Given the description of an element on the screen output the (x, y) to click on. 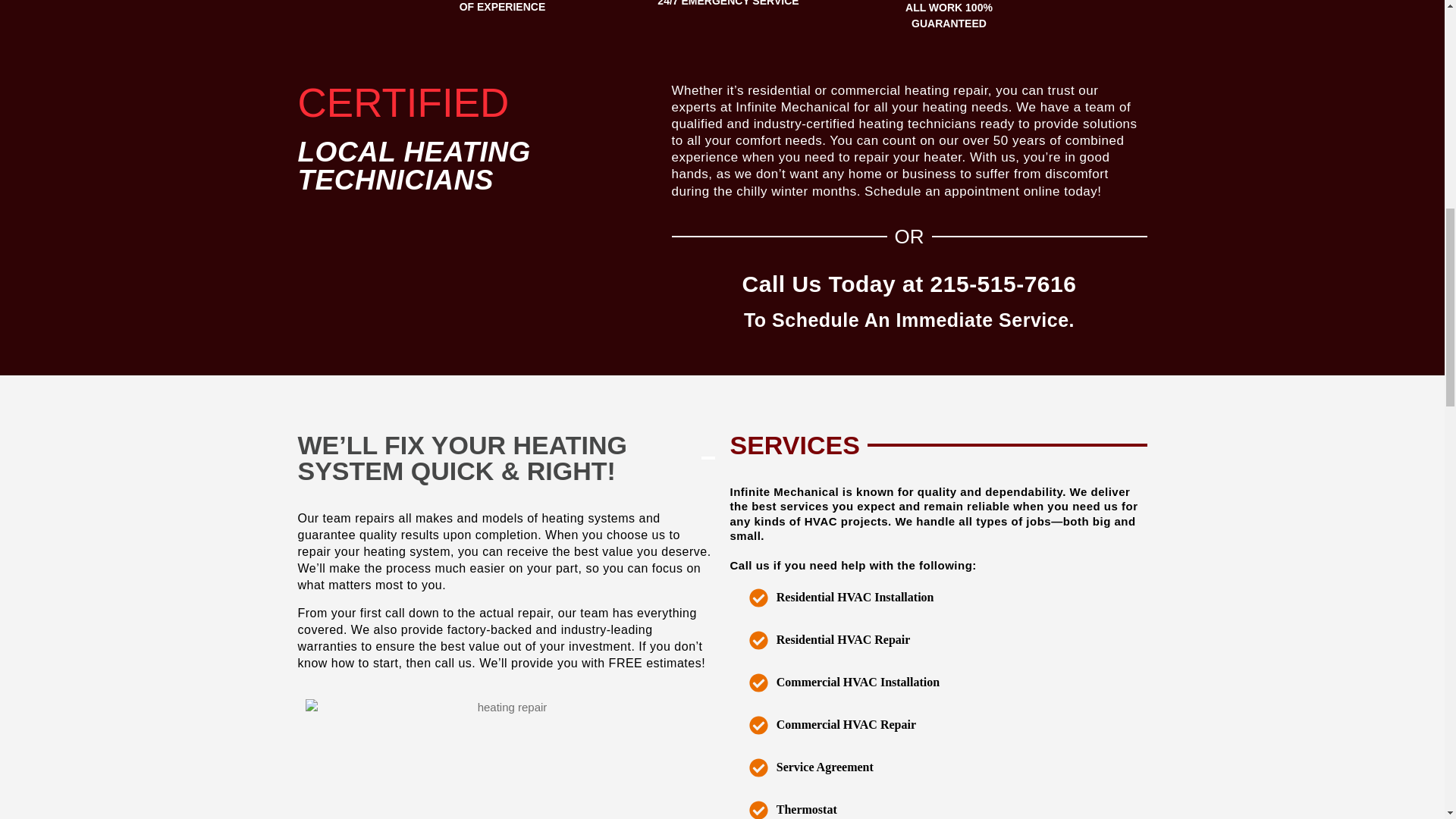
215-515-7616 (1003, 283)
